Given the description of an element on the screen output the (x, y) to click on. 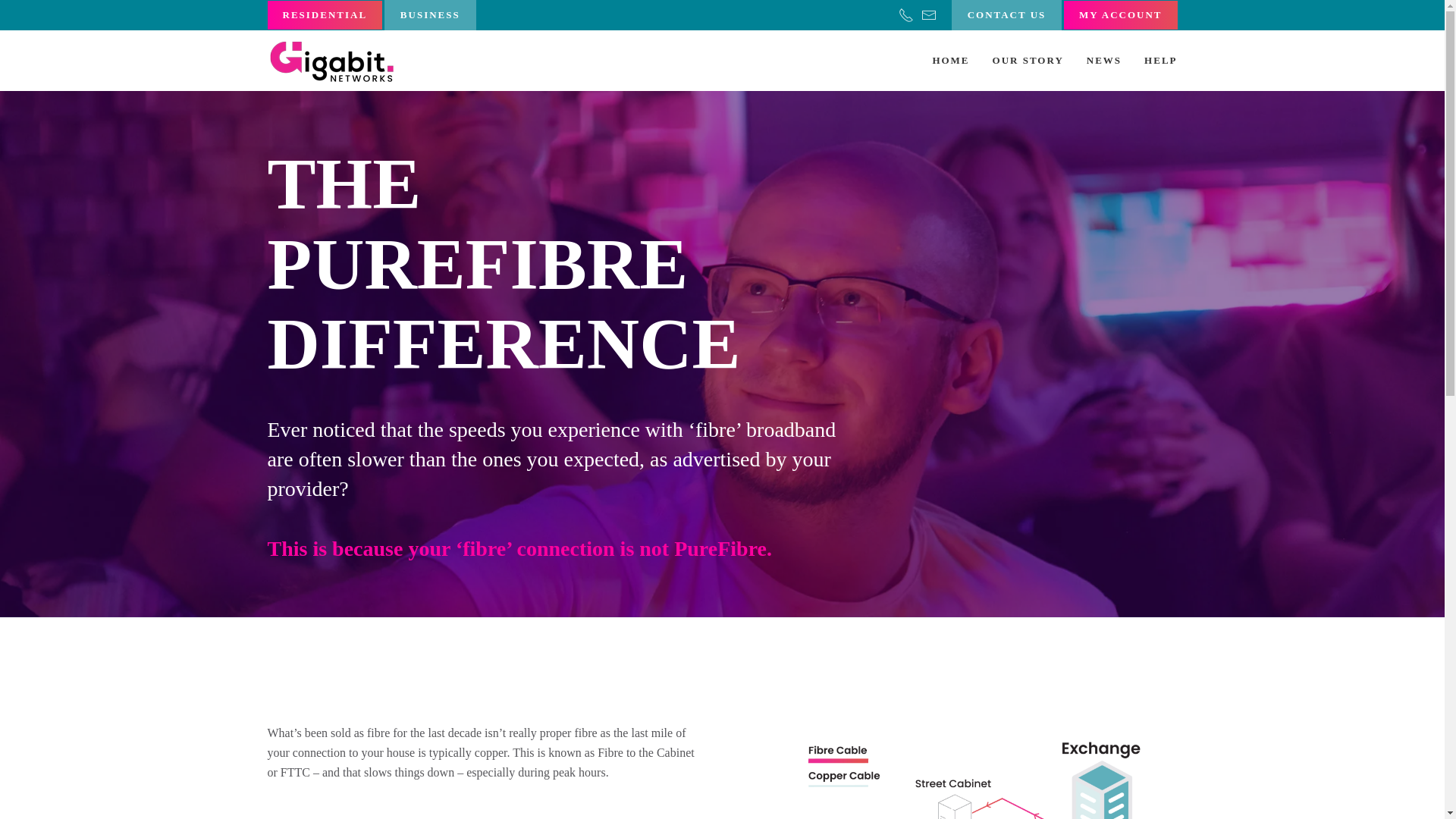
MY ACCOUNT (1120, 14)
CONTACT US (1007, 15)
OUR STORY (1028, 60)
BUSINESS (430, 15)
RESIDENTIAL (323, 14)
